Given the description of an element on the screen output the (x, y) to click on. 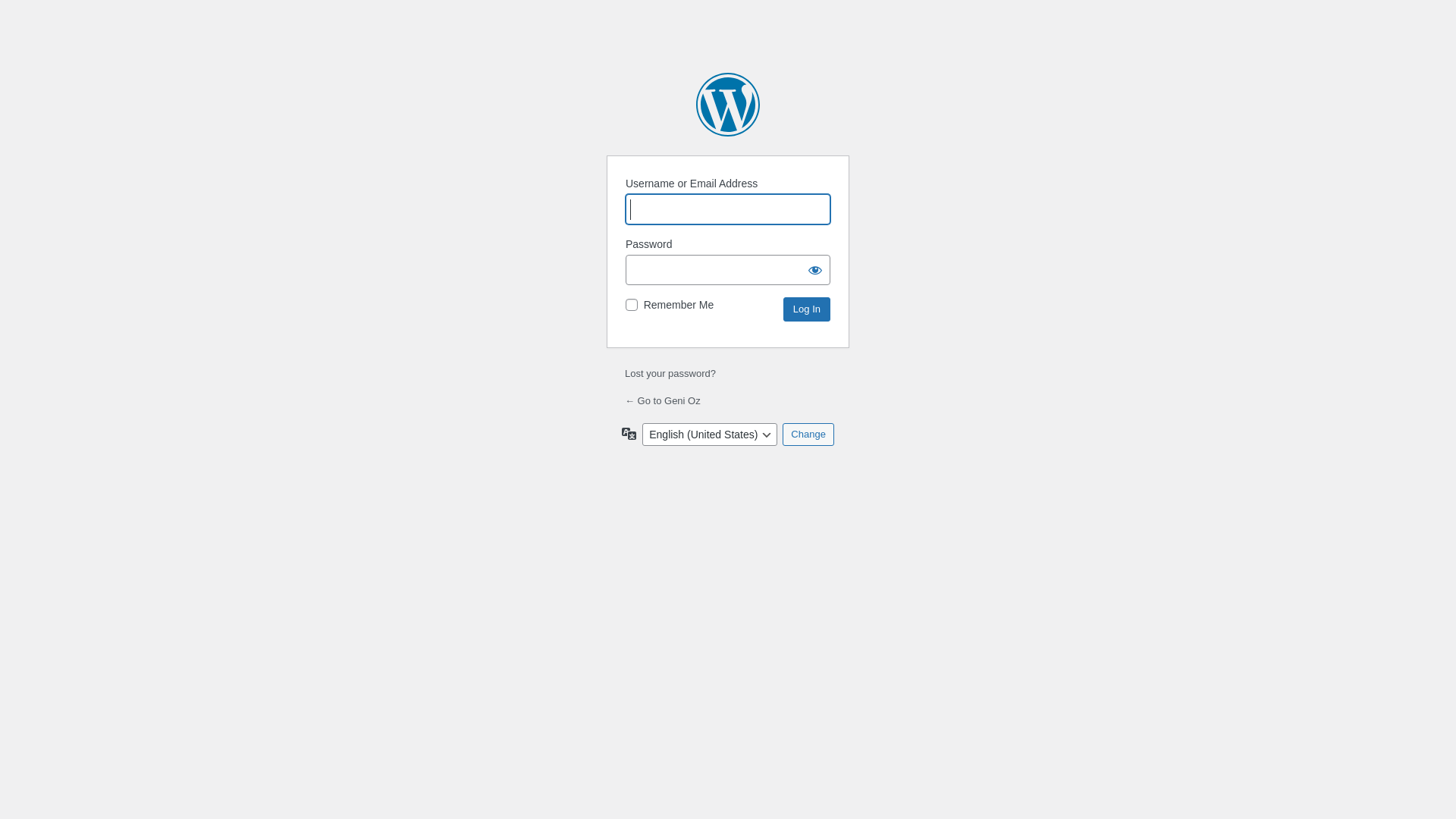
Log In Element type: text (806, 309)
Powered by WordPress Element type: text (727, 104)
Change Element type: text (808, 434)
Lost your password? Element type: text (669, 373)
